Given the description of an element on the screen output the (x, y) to click on. 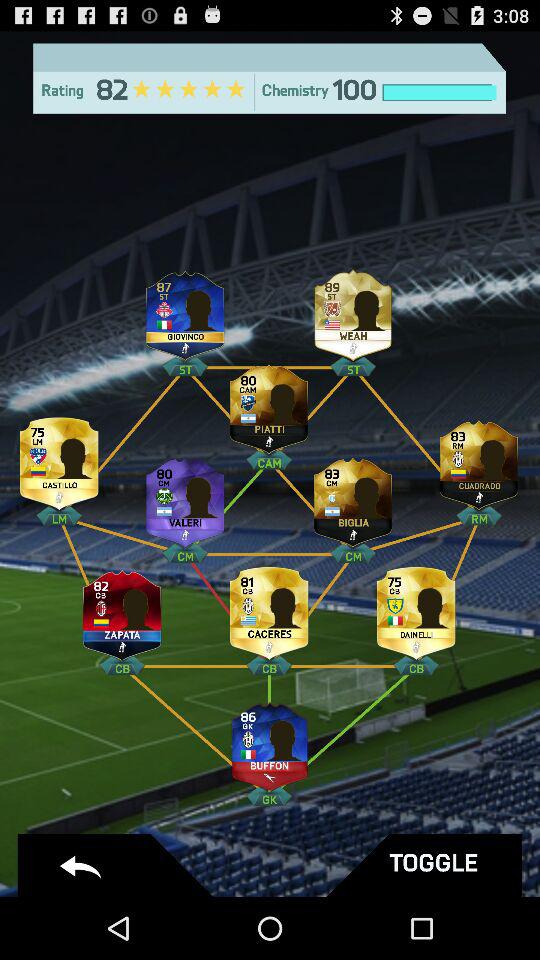
return to previous (118, 865)
